Given the description of an element on the screen output the (x, y) to click on. 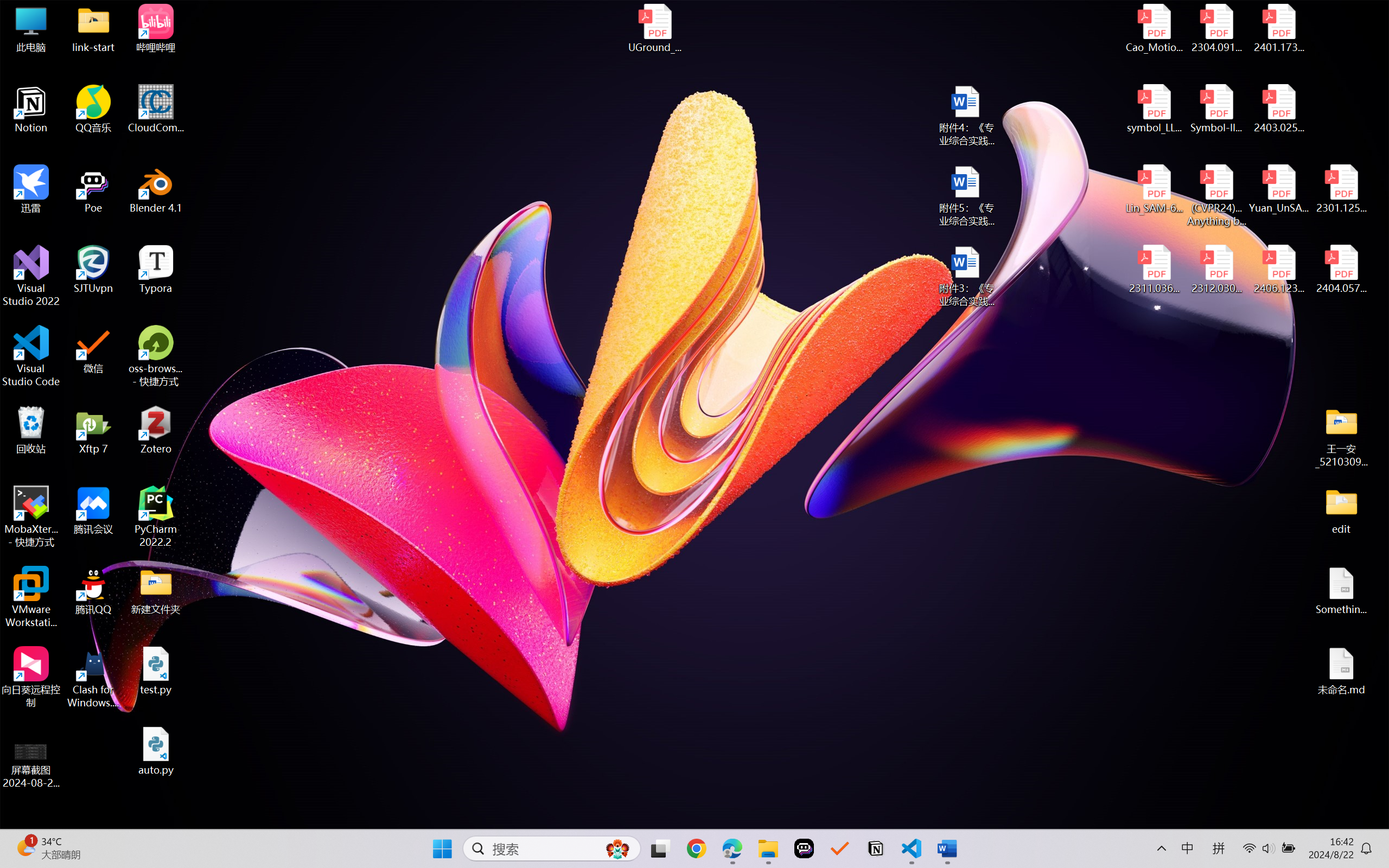
2404.05719v1.pdf (1340, 269)
2311.03658v2.pdf (1154, 269)
VMware Workstation Pro (31, 597)
2312.03032v2.pdf (1216, 269)
2406.12373v2.pdf (1278, 269)
Visual Studio 2022 (31, 276)
